Given the description of an element on the screen output the (x, y) to click on. 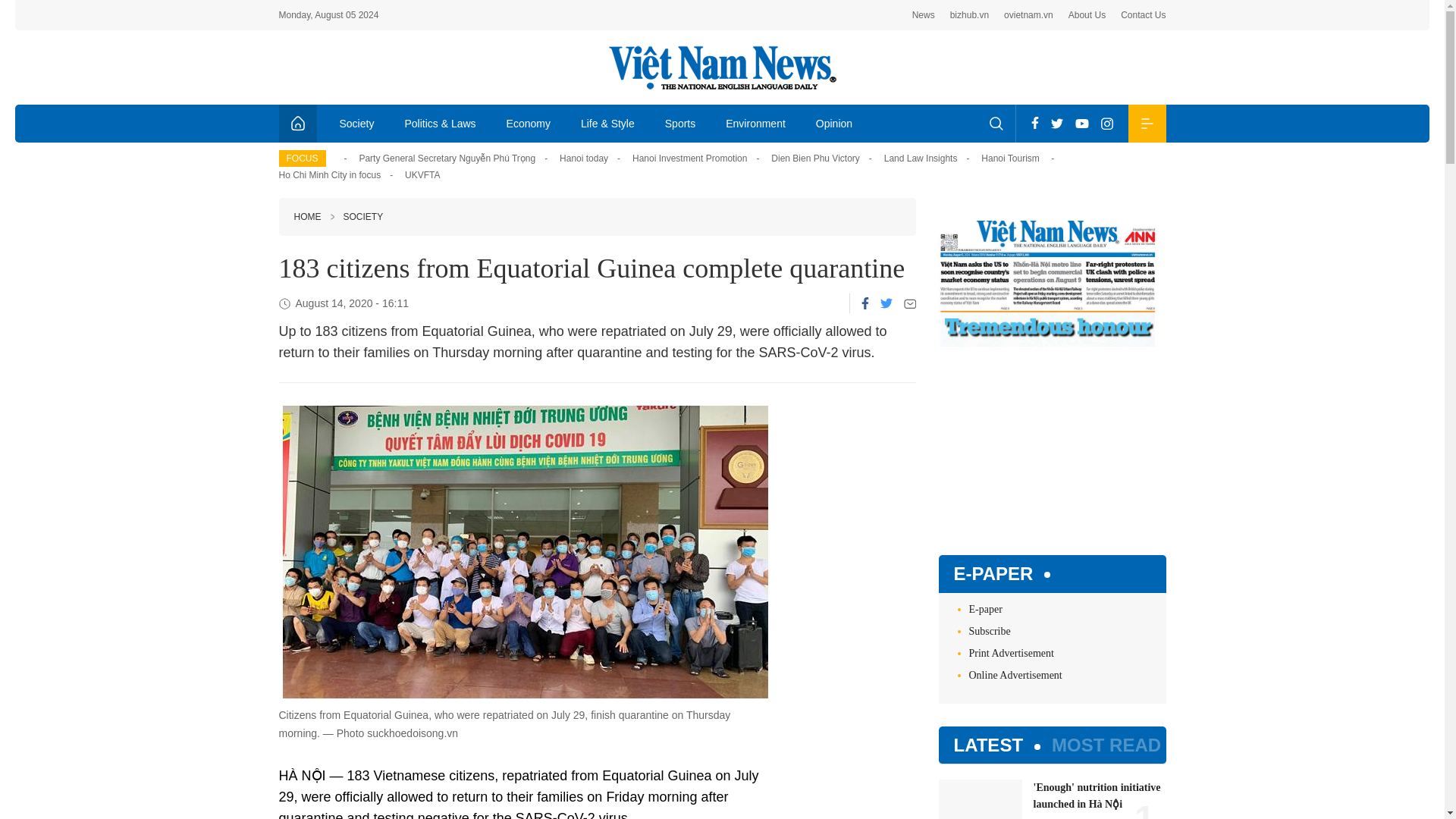
Youtube (1081, 122)
About Us (1086, 15)
Economy (529, 123)
Environment (755, 123)
Sports (679, 123)
Instagram (1106, 123)
Contact Us (1143, 15)
Email (909, 303)
Twitter (885, 303)
ovietnam.vn (1028, 15)
Opinion (833, 123)
Society (357, 123)
News (923, 15)
bizhub.vn (969, 15)
Twitter (1056, 122)
